Given the description of an element on the screen output the (x, y) to click on. 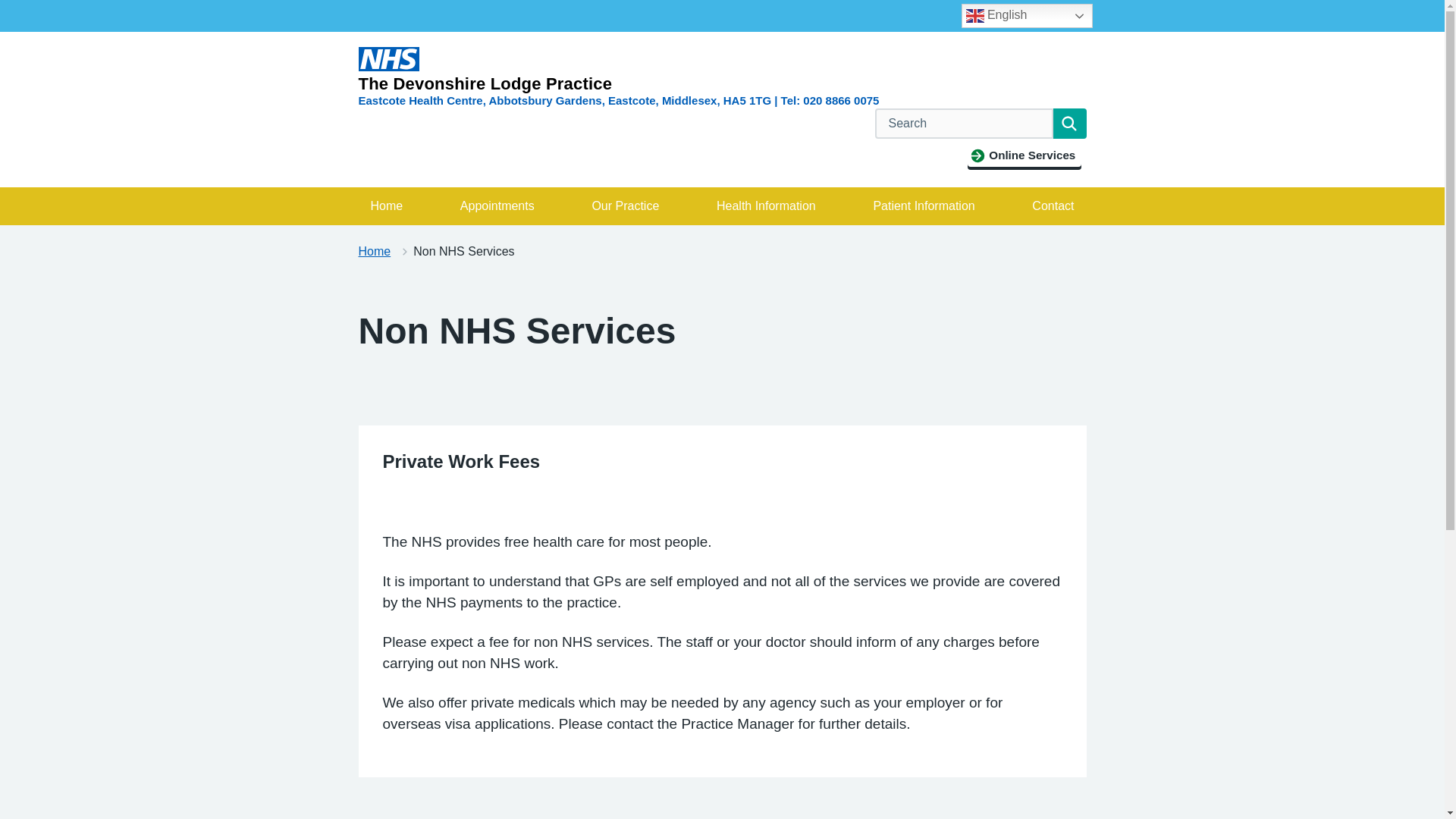
NHS Logo (388, 58)
